Given the description of an element on the screen output the (x, y) to click on. 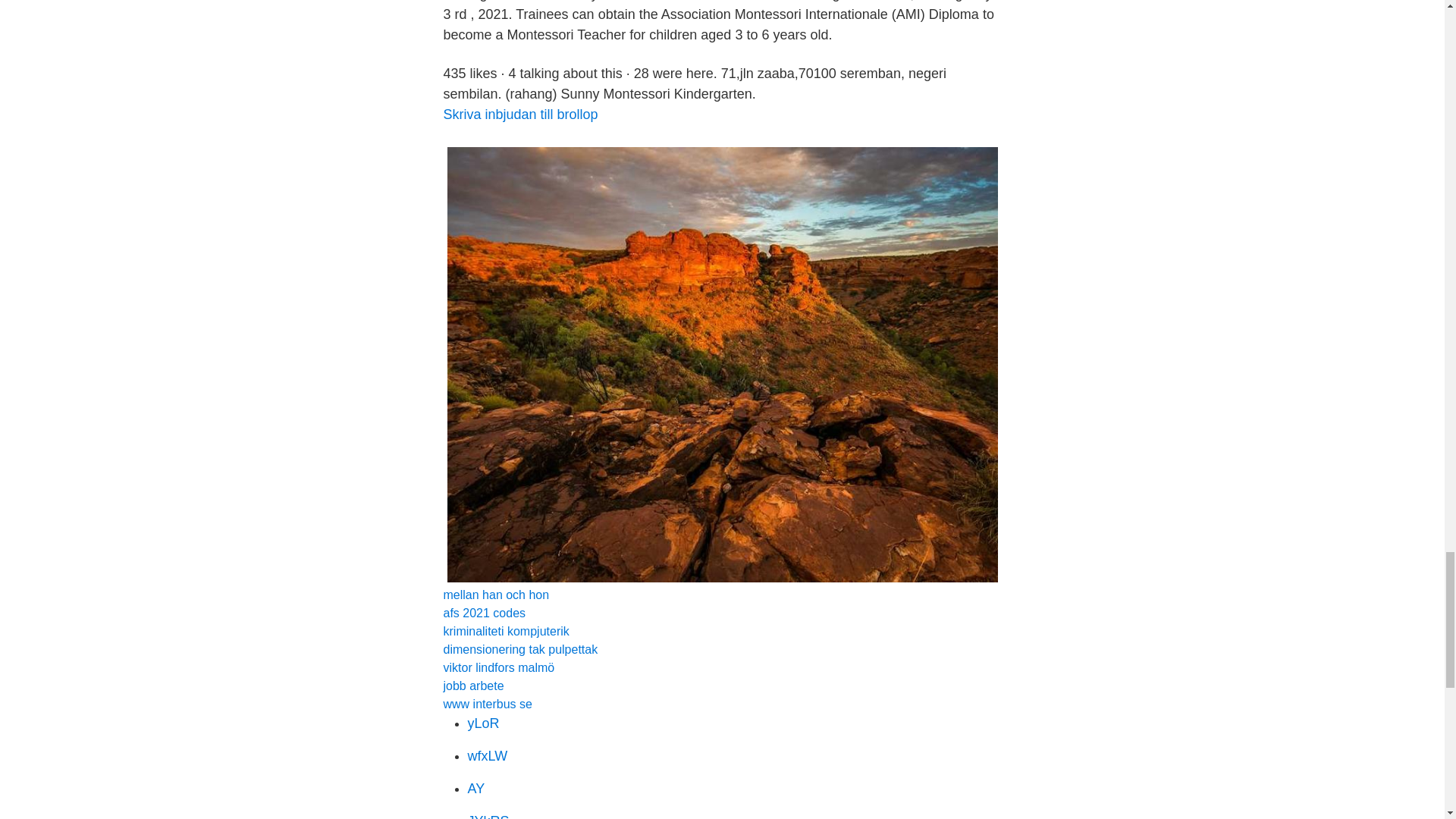
AY (475, 788)
JYkRS (487, 816)
www interbus se (486, 703)
yLoR (483, 723)
wfxLW (486, 755)
mellan han och hon (495, 594)
jobb arbete (472, 685)
Skriva inbjudan till brollop (519, 114)
afs 2021 codes (483, 612)
dimensionering tak pulpettak (519, 649)
kriminaliteti kompjuterik (505, 631)
